Given the description of an element on the screen output the (x, y) to click on. 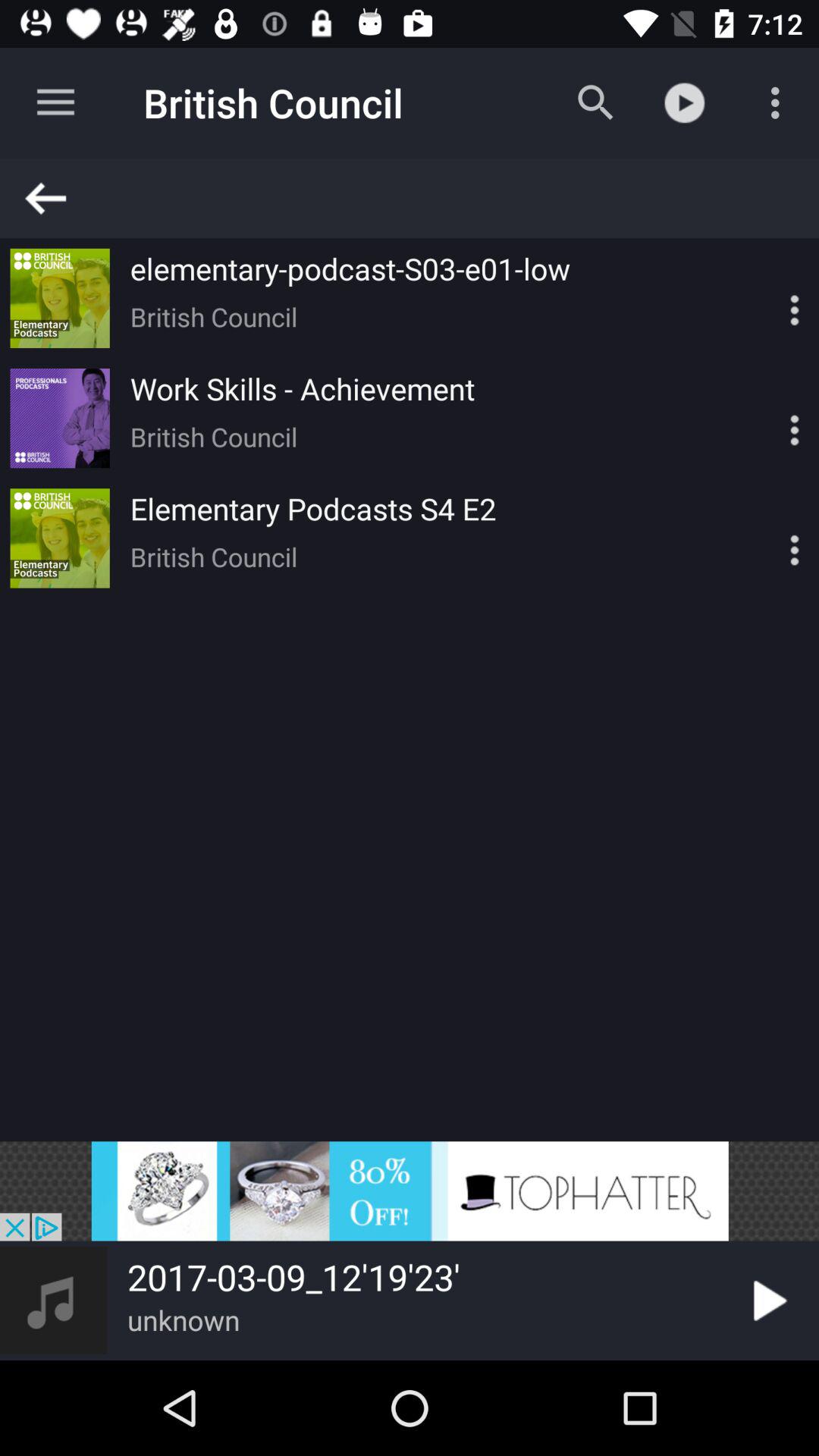
back button (416, 198)
